Given the description of an element on the screen output the (x, y) to click on. 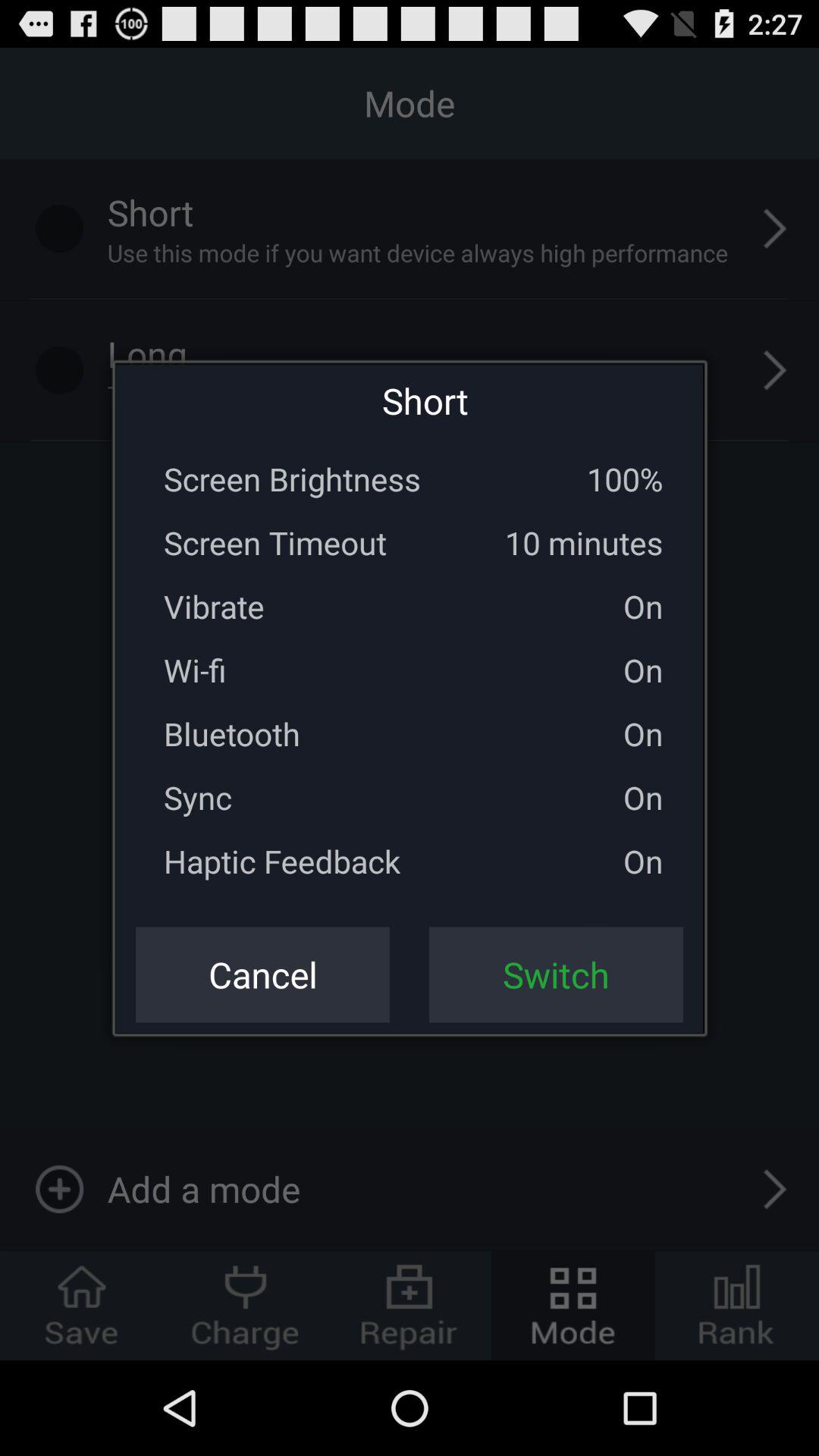
press the icon next to the cancel button (556, 974)
